Given the description of an element on the screen output the (x, y) to click on. 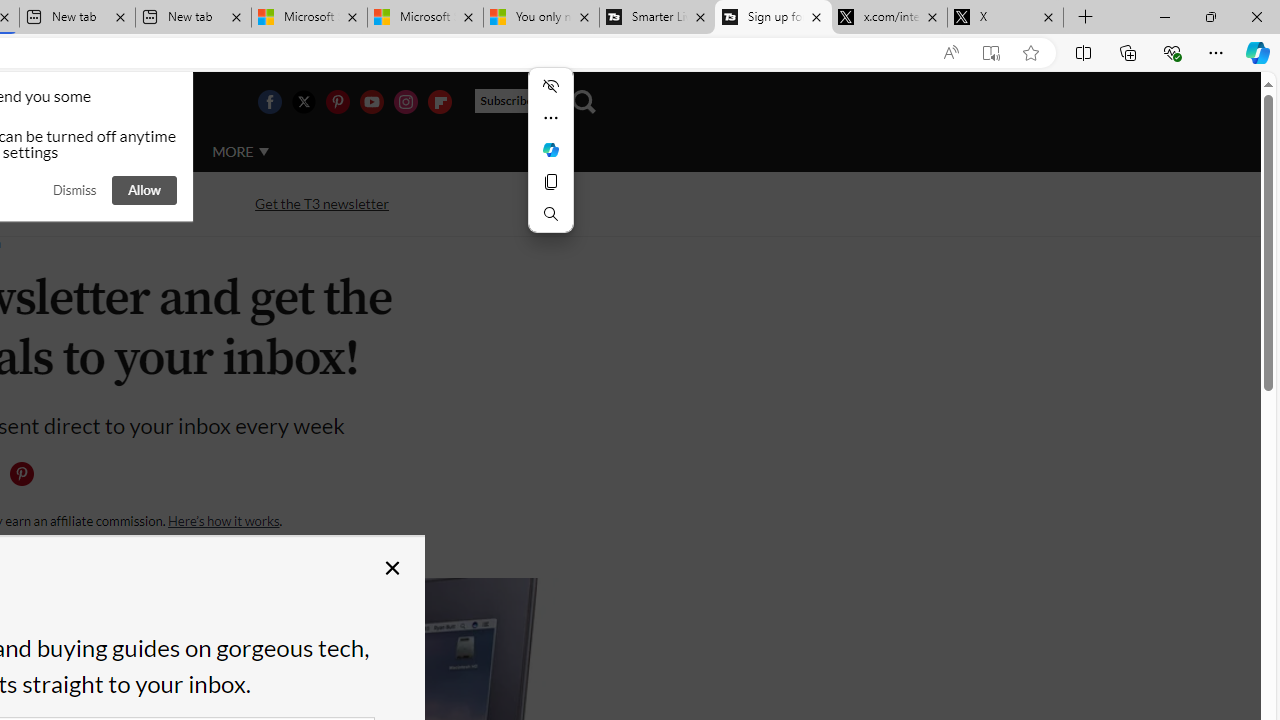
Mini menu on text selection (550, 149)
Visit us on Twitter (303, 101)
LUXURY (66, 151)
flag of UK (44, 102)
AUTO (153, 151)
Allow (144, 190)
More actions (550, 117)
Get the T3 newsletter (322, 202)
Streaming TV and movies (105, 204)
